Given the description of an element on the screen output the (x, y) to click on. 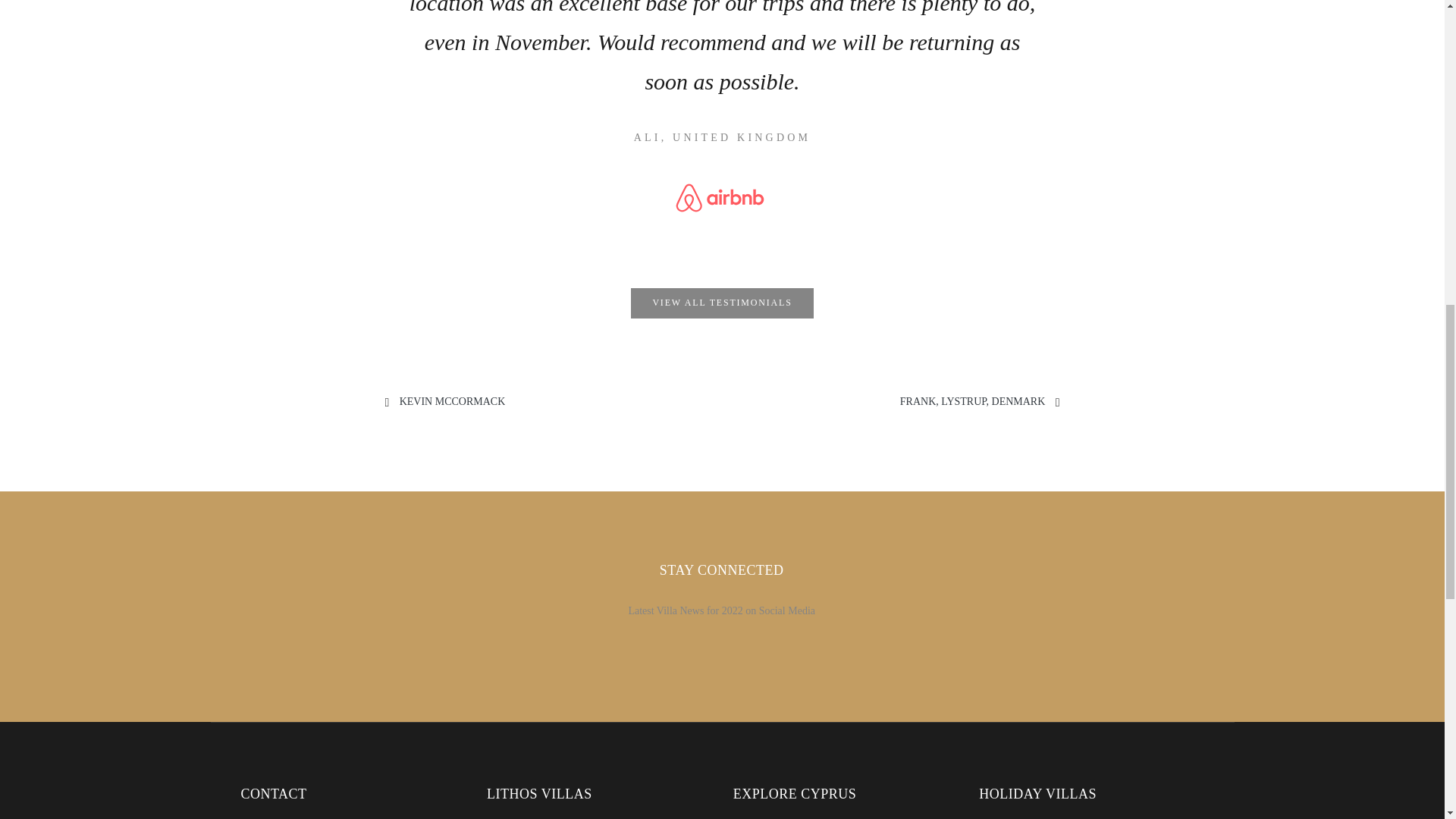
KEVIN MCCORMACK (451, 401)
FRANK, LYSTRUP, DENMARK (972, 401)
ALI, UNITED KINGDOM (721, 137)
VIEW ALL TESTIMONIALS (721, 303)
